Given the description of an element on the screen output the (x, y) to click on. 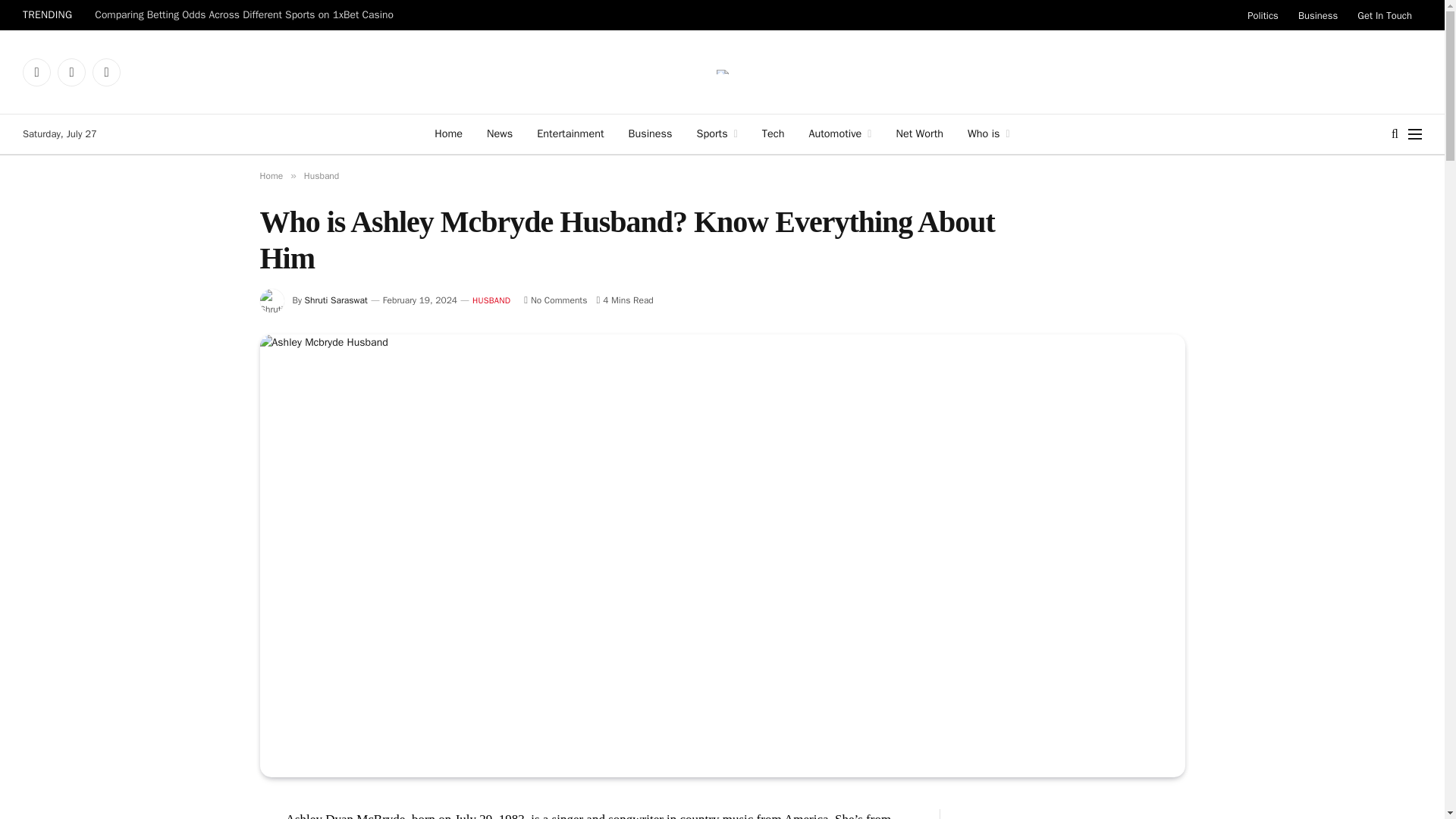
News (499, 133)
Business (649, 133)
Facebook (36, 71)
Home (448, 133)
Instagram (106, 71)
The Journal Bharat (722, 71)
Business (1318, 15)
Sports (716, 133)
Politics (1262, 15)
Automotive (839, 133)
Get In Touch (1385, 15)
Tech (772, 133)
Entertainment (569, 133)
